Given the description of an element on the screen output the (x, y) to click on. 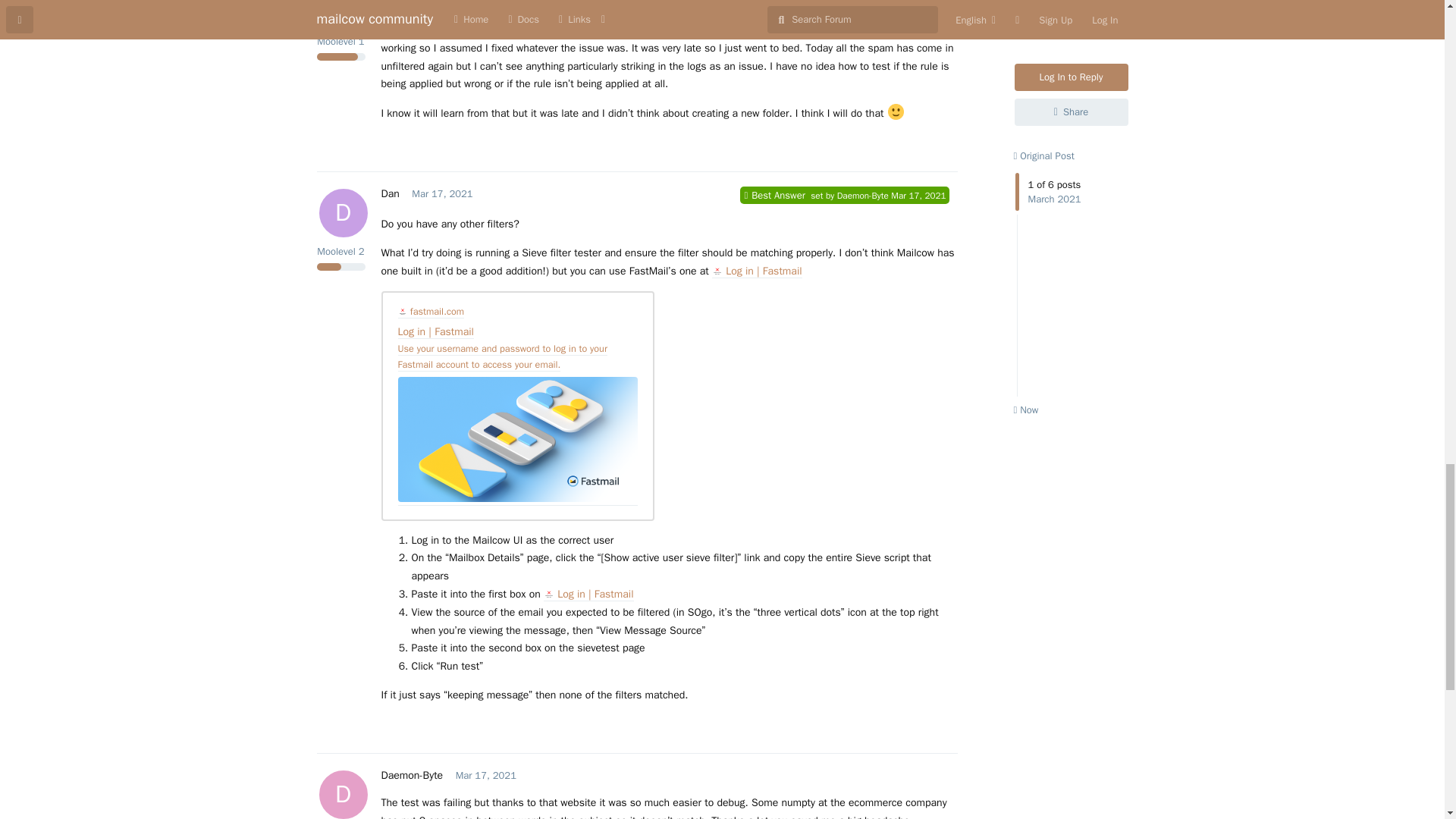
Wednesday, March 17, 2021 5:18 AM (917, 195)
Wednesday, March 17, 2021 5:11 AM (441, 193)
Wednesday, March 17, 2021 5:18 AM (485, 775)
